Given the description of an element on the screen output the (x, y) to click on. 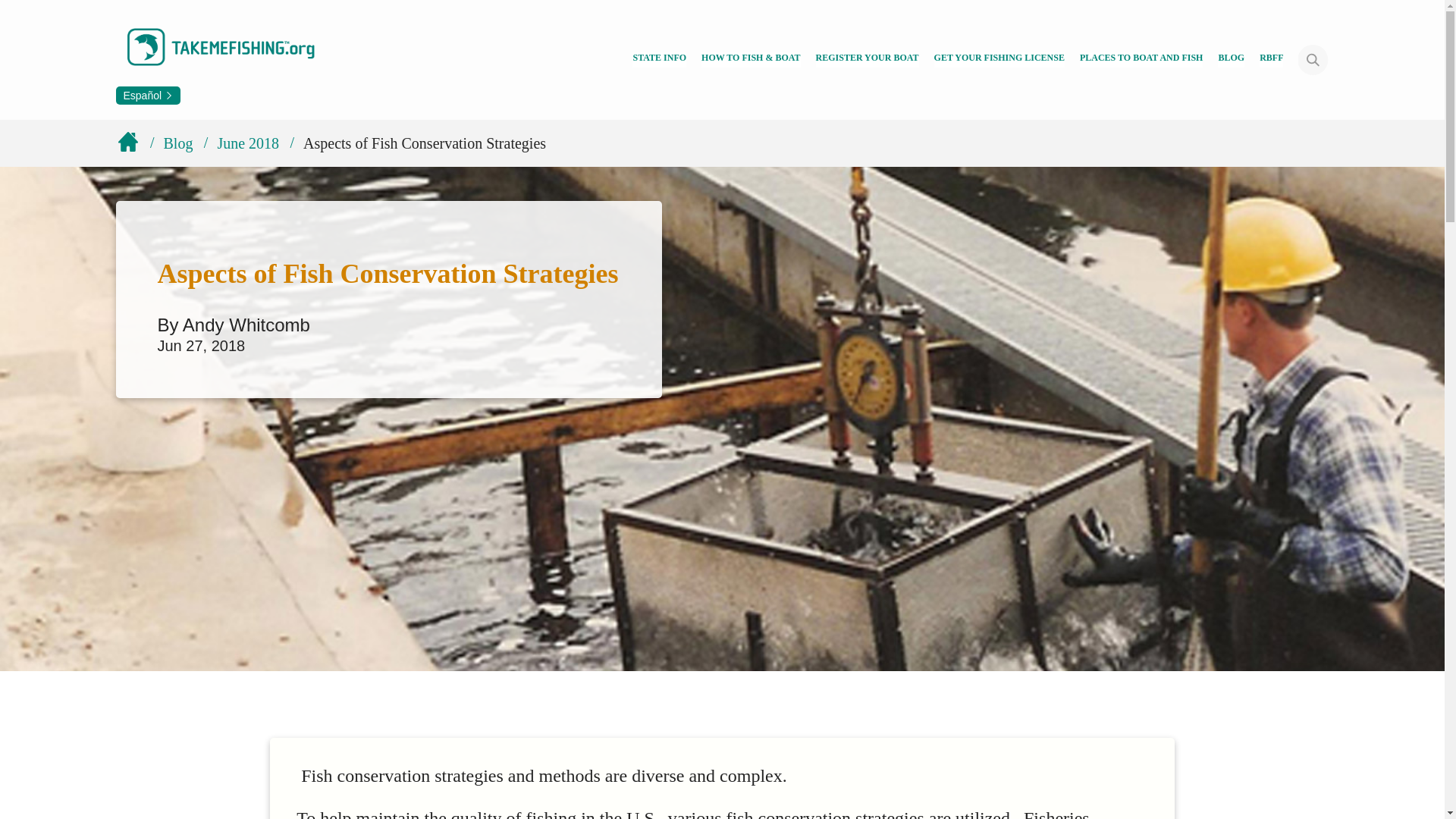
RBFF (1270, 59)
GET YOUR FISHING LICENSE (999, 59)
PLACES TO BOAT AND FISH (1142, 59)
BLOG (1230, 59)
REGISTER YOUR BOAT (866, 59)
Blog (1230, 59)
Places To Boat And Fish (1142, 59)
RBFF (1270, 59)
Get Your Fishing License (999, 59)
Register Your Boat (866, 59)
